Given the description of an element on the screen output the (x, y) to click on. 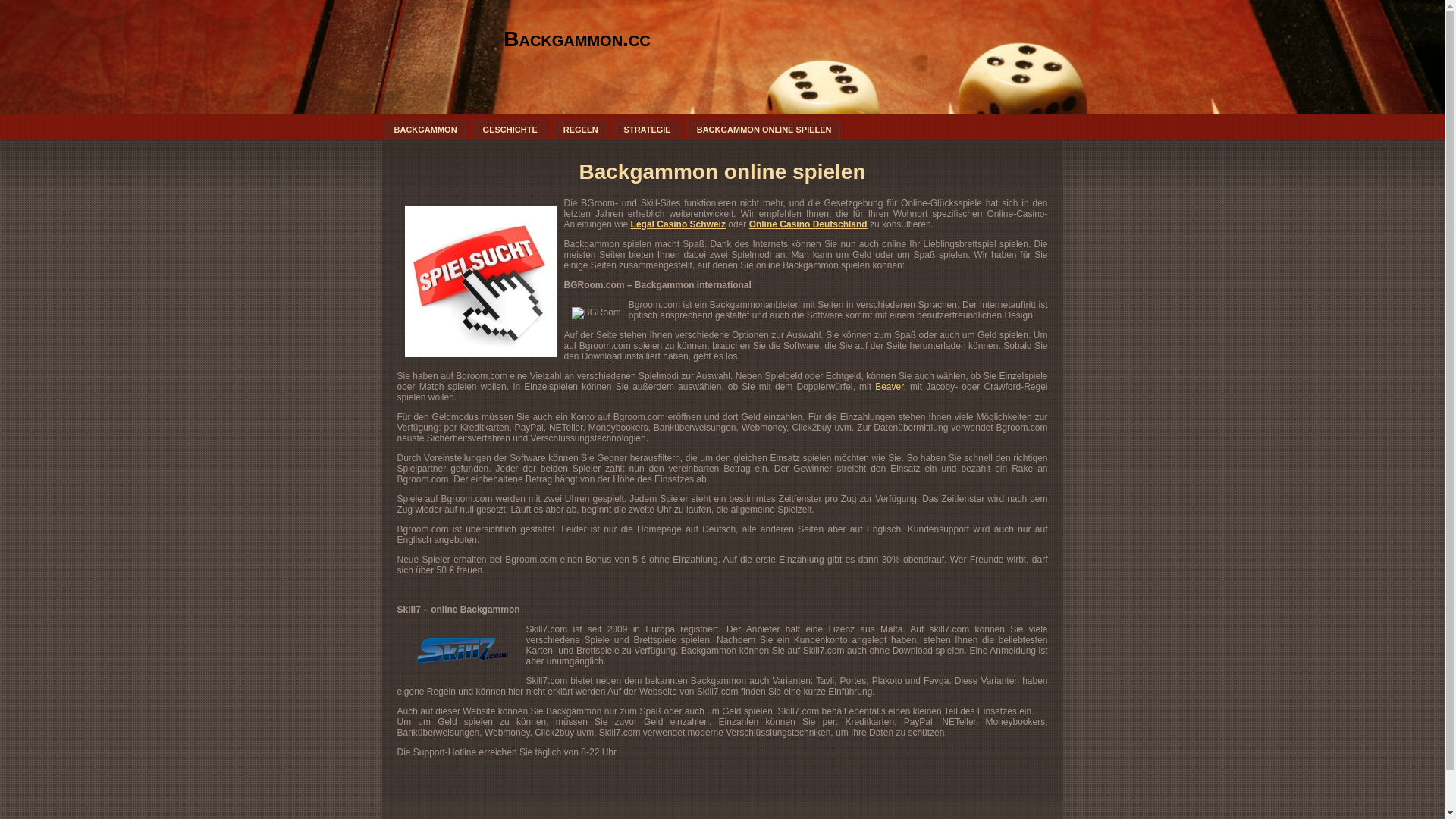
BACKGAMMON Element type: text (424, 129)
Online Casino Deutschland Element type: text (808, 224)
REGELN Element type: text (580, 129)
Backgammon.cc Element type: text (576, 38)
Beaver Element type: text (889, 386)
STRATEGIE Element type: text (647, 129)
Legal Casino Schweiz Element type: text (677, 224)
BACKGAMMON ONLINE SPIELEN Element type: text (764, 129)
GESCHICHTE Element type: text (510, 129)
